Given the description of an element on the screen output the (x, y) to click on. 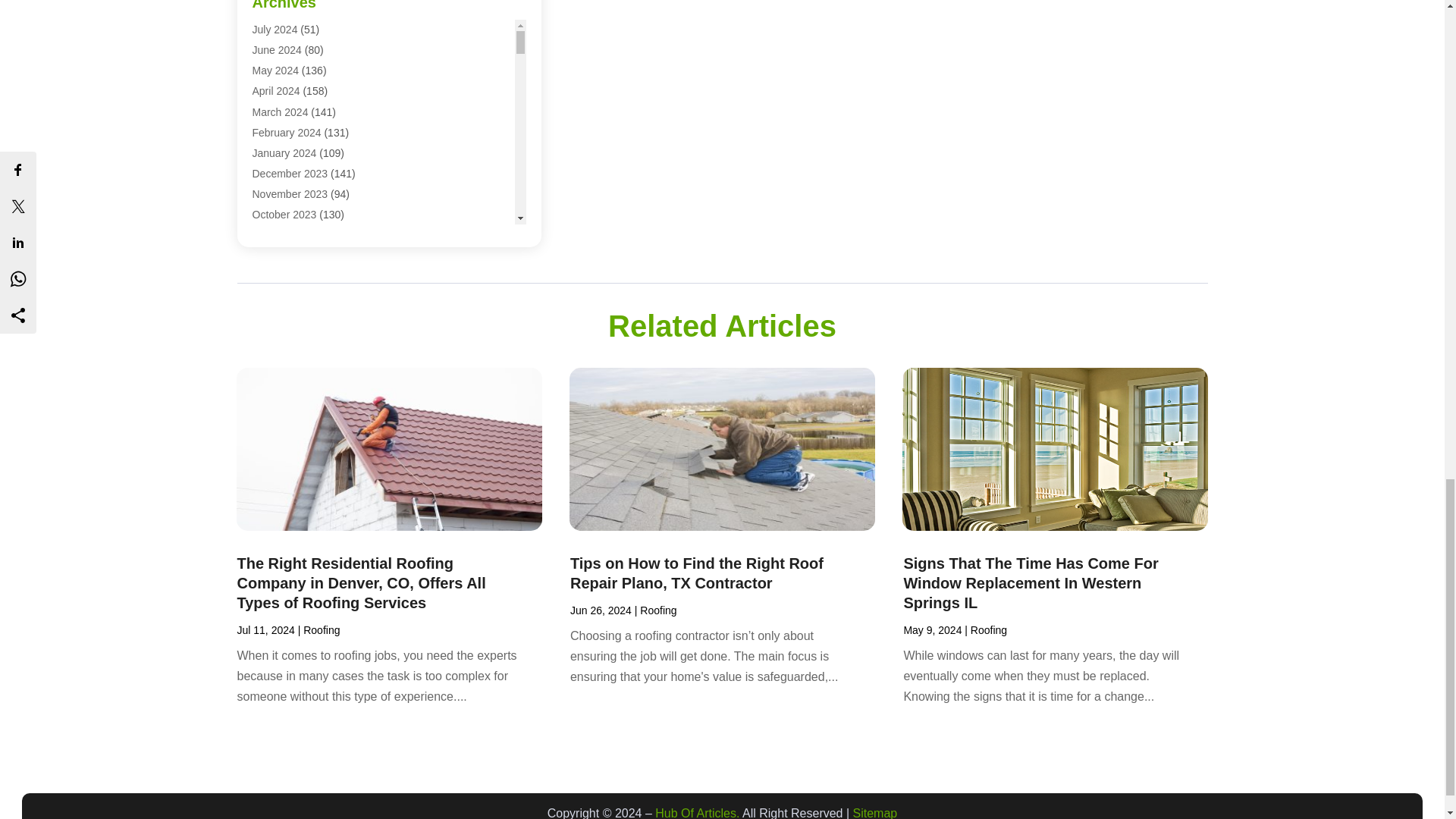
Agricultural Service (297, 12)
Agriculture And Forestry (308, 33)
Air Conditioning (288, 115)
Air Compressor Supplier (309, 95)
Agronomy (275, 73)
Agriculture Cooperative (306, 53)
